Given the description of an element on the screen output the (x, y) to click on. 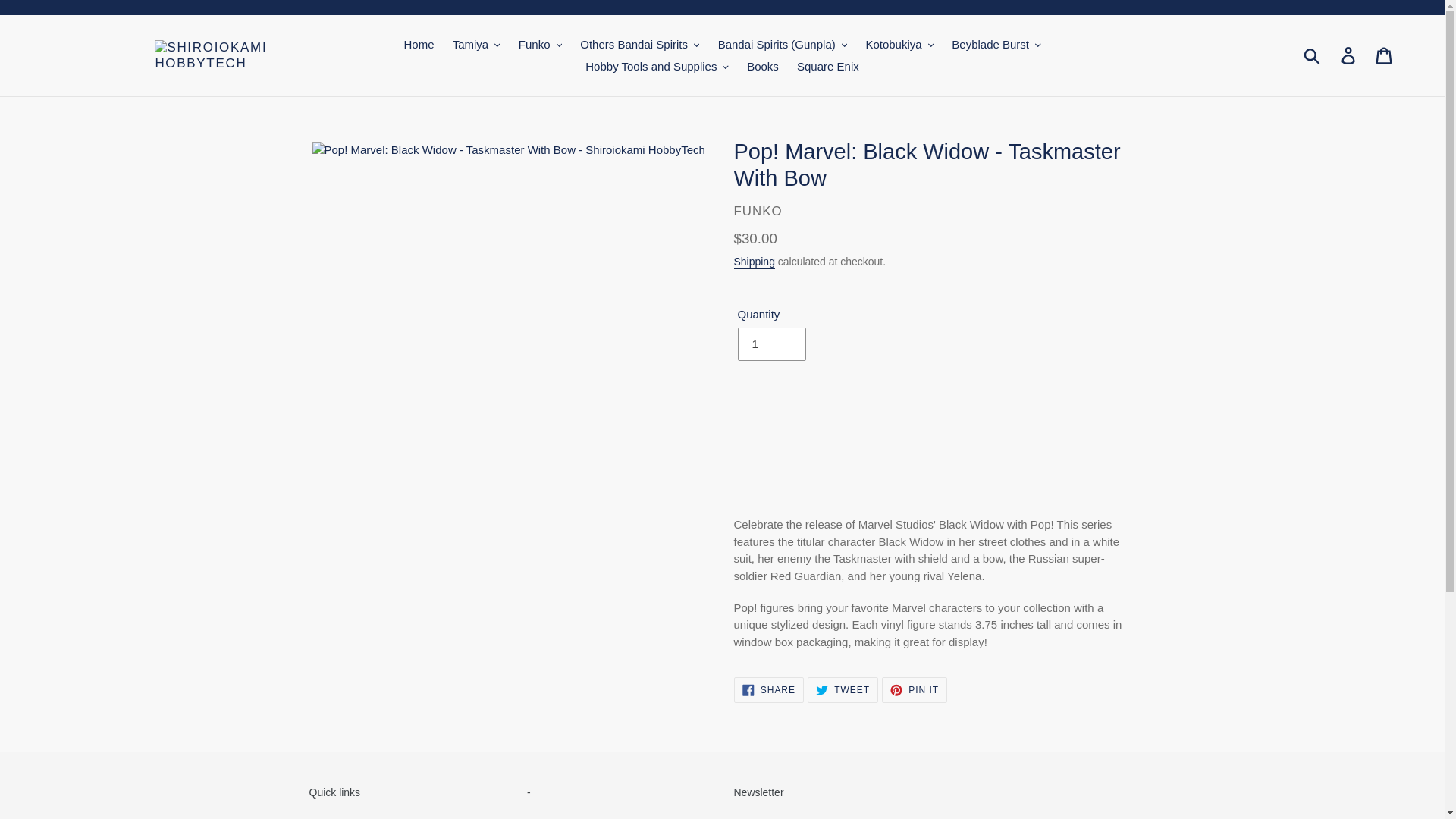
Home (418, 45)
1 (770, 344)
